Given the description of an element on the screen output the (x, y) to click on. 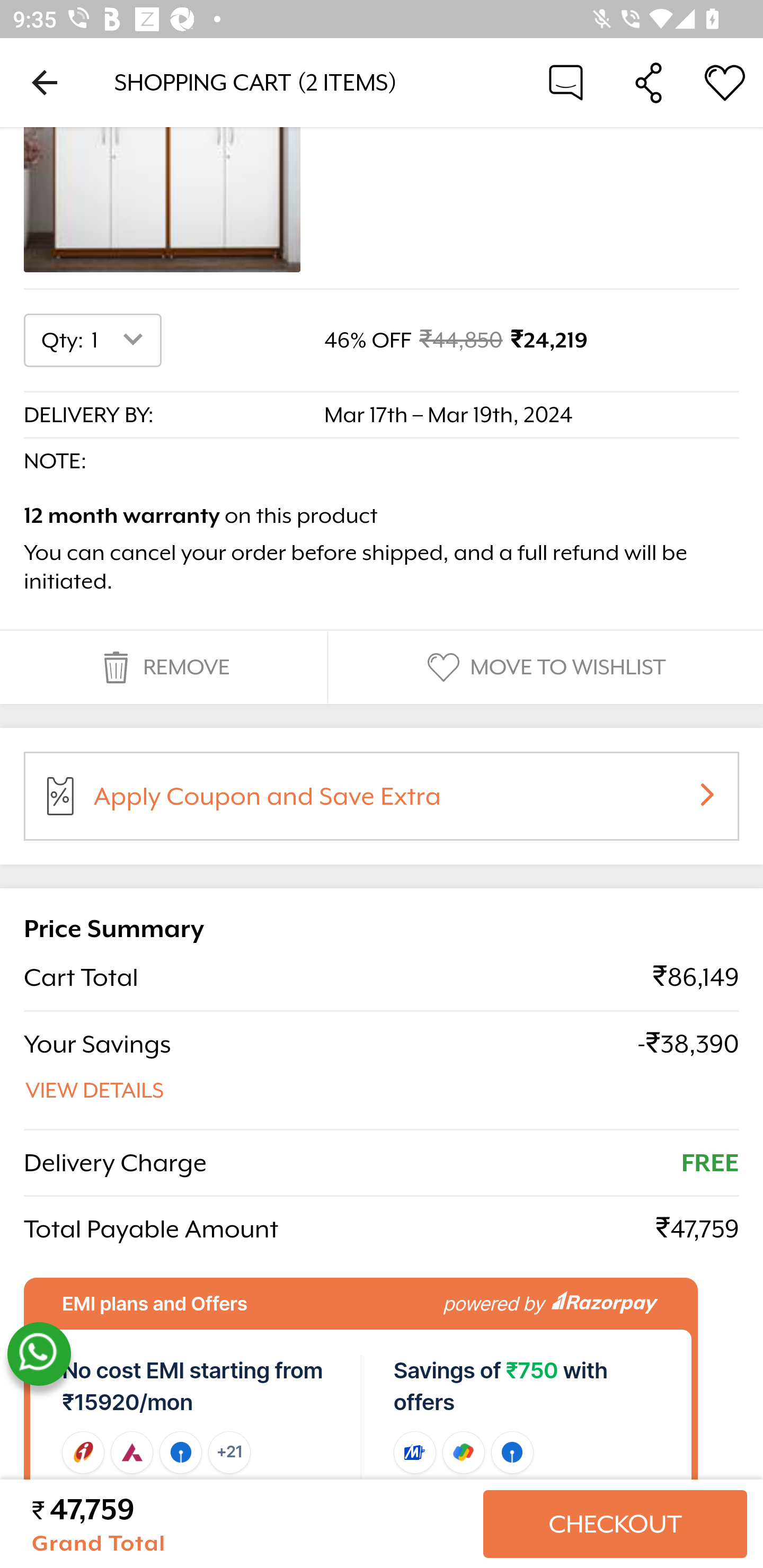
Navigate up (44, 82)
Chat (565, 81)
Share Cart (648, 81)
Wishlist (724, 81)
1 (121, 340)
REMOVE (163, 667)
MOVE TO WISHLIST (544, 667)
Apply Coupon and Save Extra (402, 803)
VIEW DETAILS (95, 1090)
whatsapp (38, 1354)
₹ 47,759 Grand Total (250, 1523)
CHECKOUT (614, 1523)
